Given the description of an element on the screen output the (x, y) to click on. 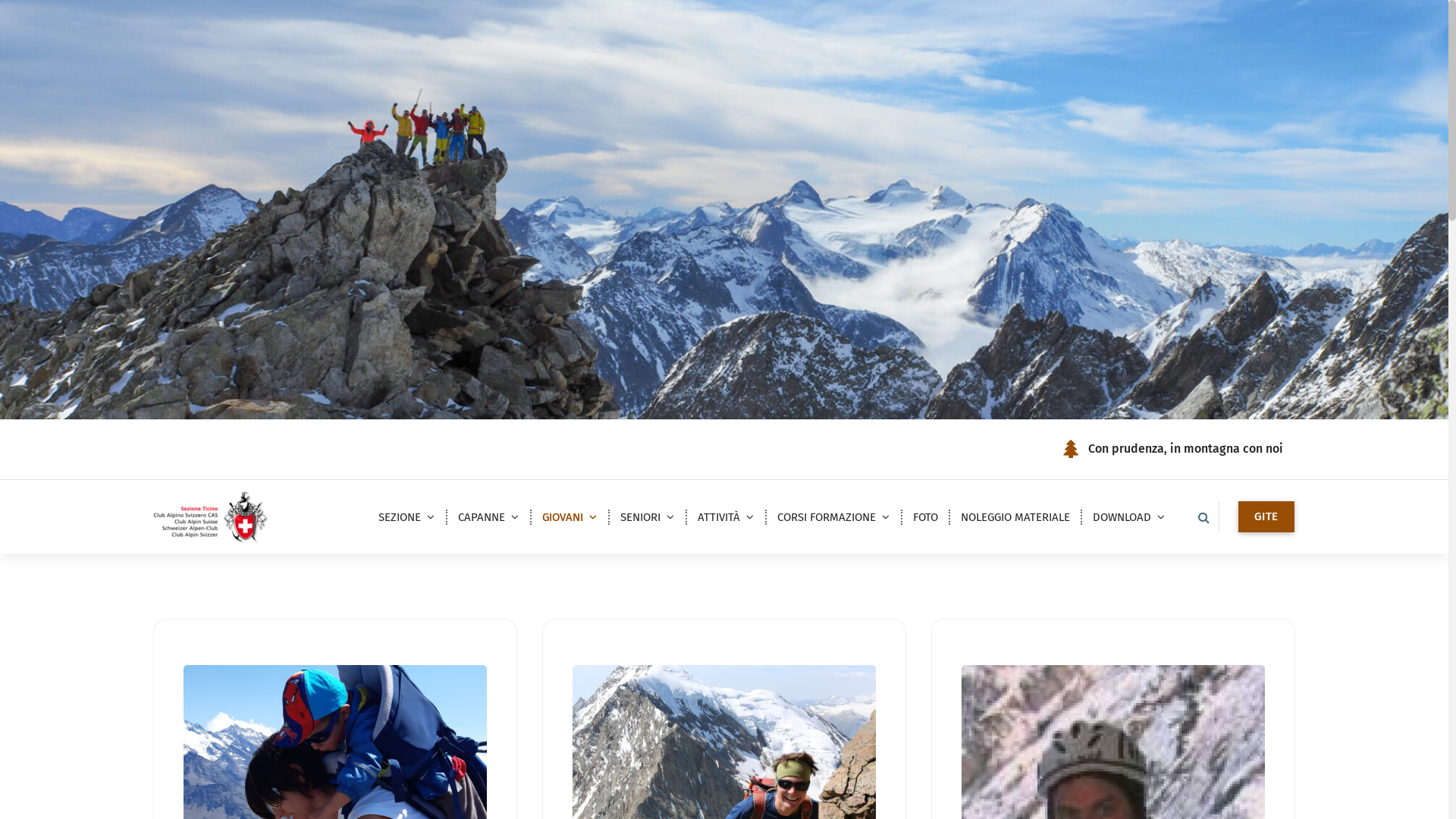
SENIORI Element type: text (647, 516)
GIOVANI Element type: text (569, 516)
G
I
T
E Element type: text (1266, 516)
CORSI FORMAZIONE Element type: text (833, 516)
FOTO Element type: text (925, 516)
DOWNLOAD Element type: text (1128, 516)
Con prudenza, in montagna con noi Element type: text (1185, 448)
NOLEGGIO MATERIALE Element type: text (1015, 516)
SEZIONE Element type: text (406, 516)
CAPANNE Element type: text (488, 516)
